Given the description of an element on the screen output the (x, y) to click on. 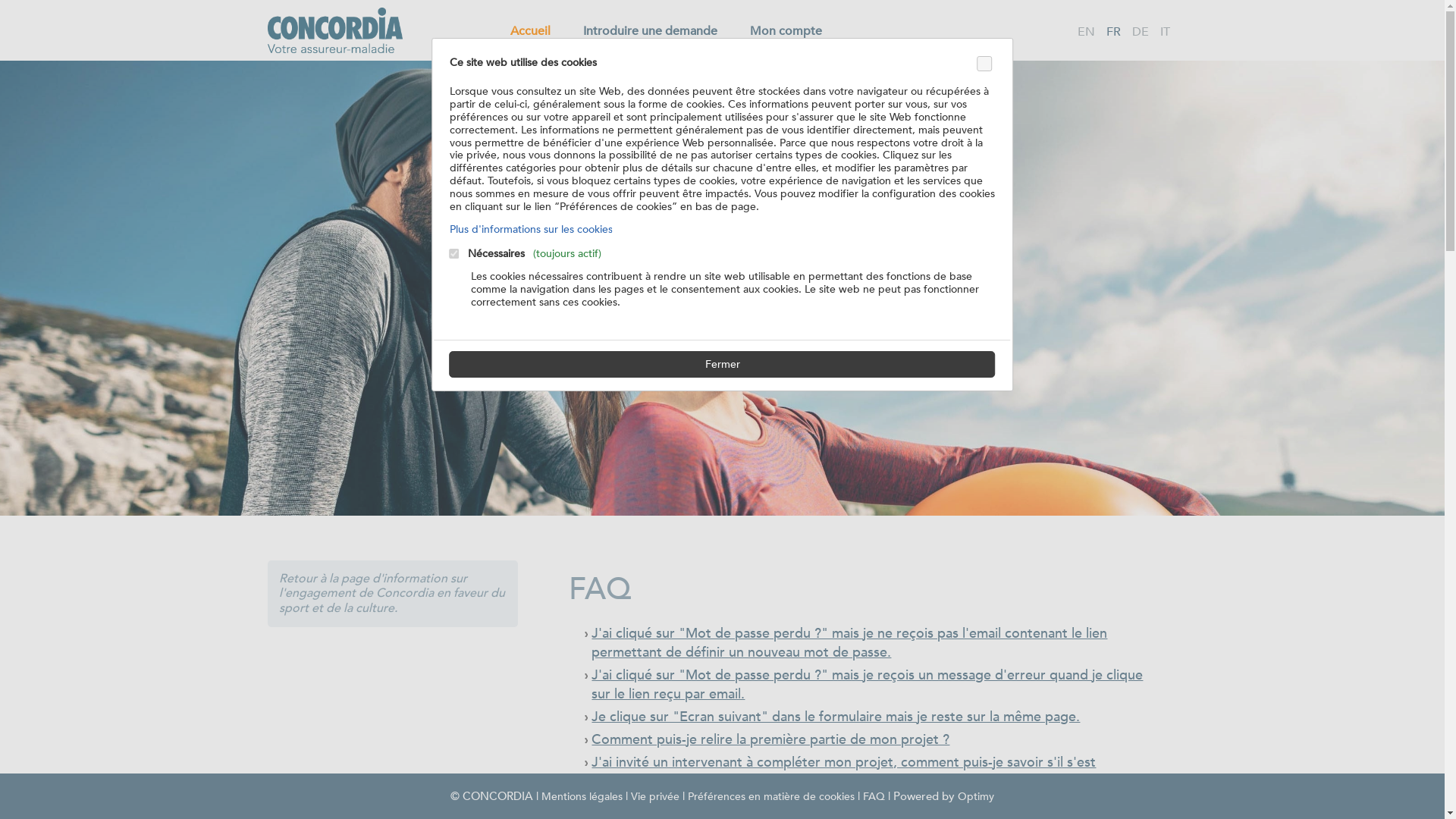
Mon compte Element type: text (785, 30)
Fermer Element type: text (721, 364)
Optimy Element type: text (975, 796)
FAQ Element type: text (873, 796)
Accueil Element type: text (529, 30)
EN Element type: text (1085, 31)
Introduire une demande Element type: text (649, 30)
Plus d'informations sur les cookies Element type: text (529, 229)
DE Element type: text (1140, 31)
IT Element type: text (1164, 31)
Close Element type: text (983, 63)
